Given the description of an element on the screen output the (x, y) to click on. 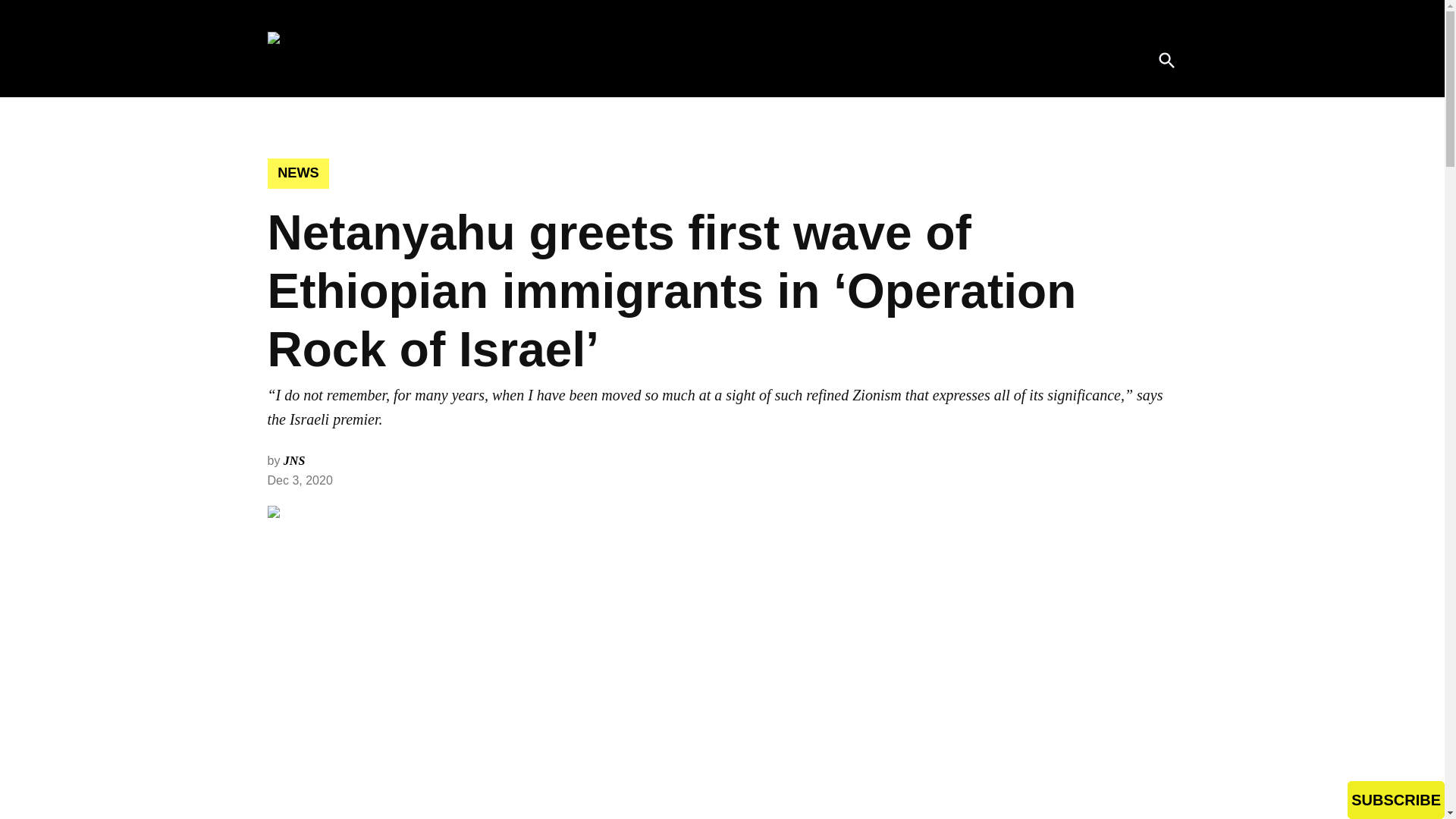
JNS (293, 460)
newsi.co.za (532, 70)
NEWS (297, 173)
